Given the description of an element on the screen output the (x, y) to click on. 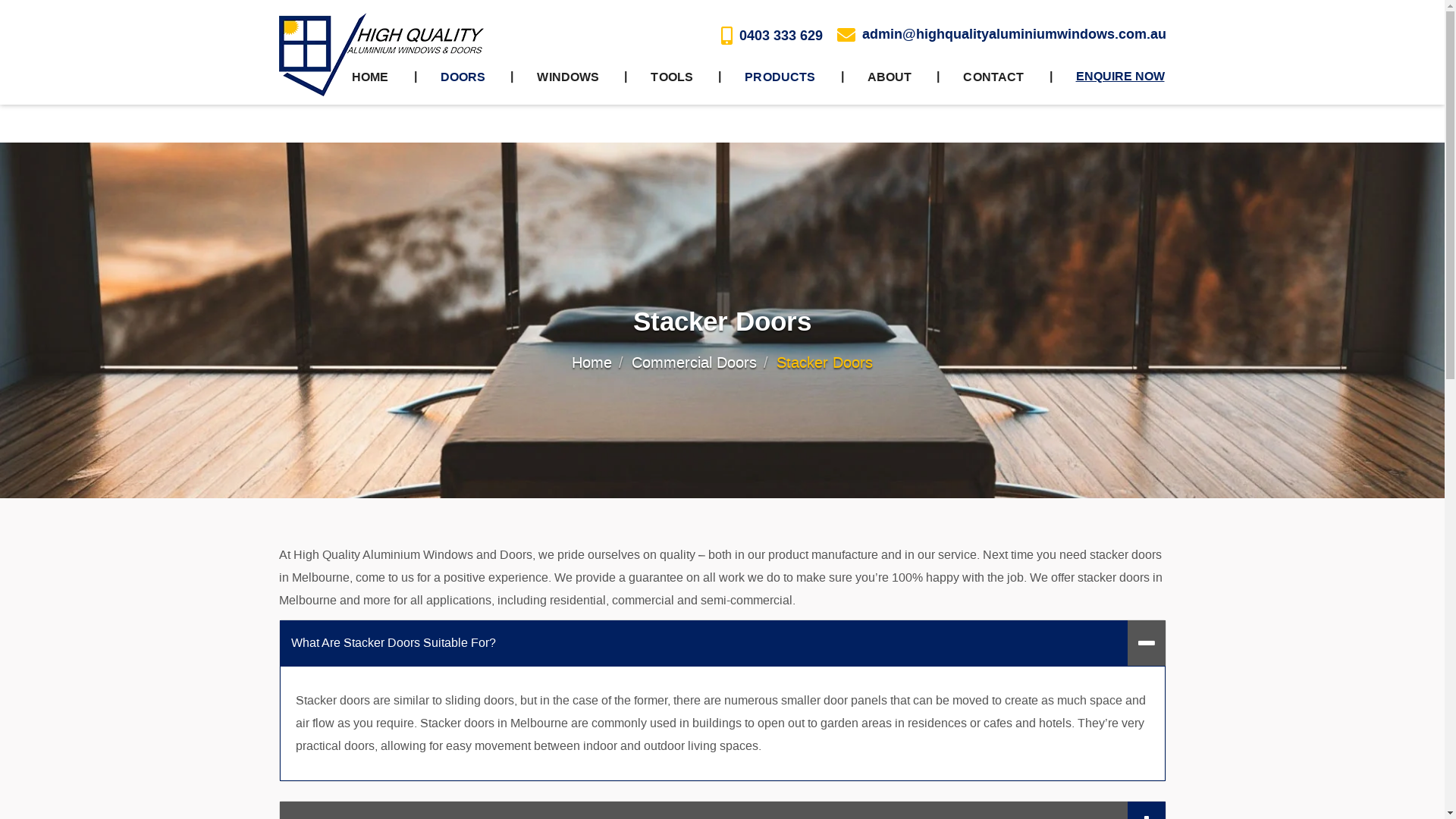
WINDOWS Element type: text (567, 76)
Commercial Doors Element type: text (693, 361)
PRODUCTS Element type: text (779, 76)
What Are Stacker Doors Suitable For? Element type: text (721, 642)
HOME Element type: text (370, 76)
ENQUIRE NOW Element type: text (1119, 76)
ABOUT Element type: text (889, 76)
CONTACT Element type: text (993, 76)
0403 333 629 Element type: text (771, 35)
admin@highqualityaluminiumwindows.com.au Element type: text (1001, 35)
High Quality Aluminum Windows & Doors Element type: hover (381, 54)
DOORS Element type: text (463, 76)
TOOLS Element type: text (671, 76)
Home Element type: text (591, 361)
